Given the description of an element on the screen output the (x, y) to click on. 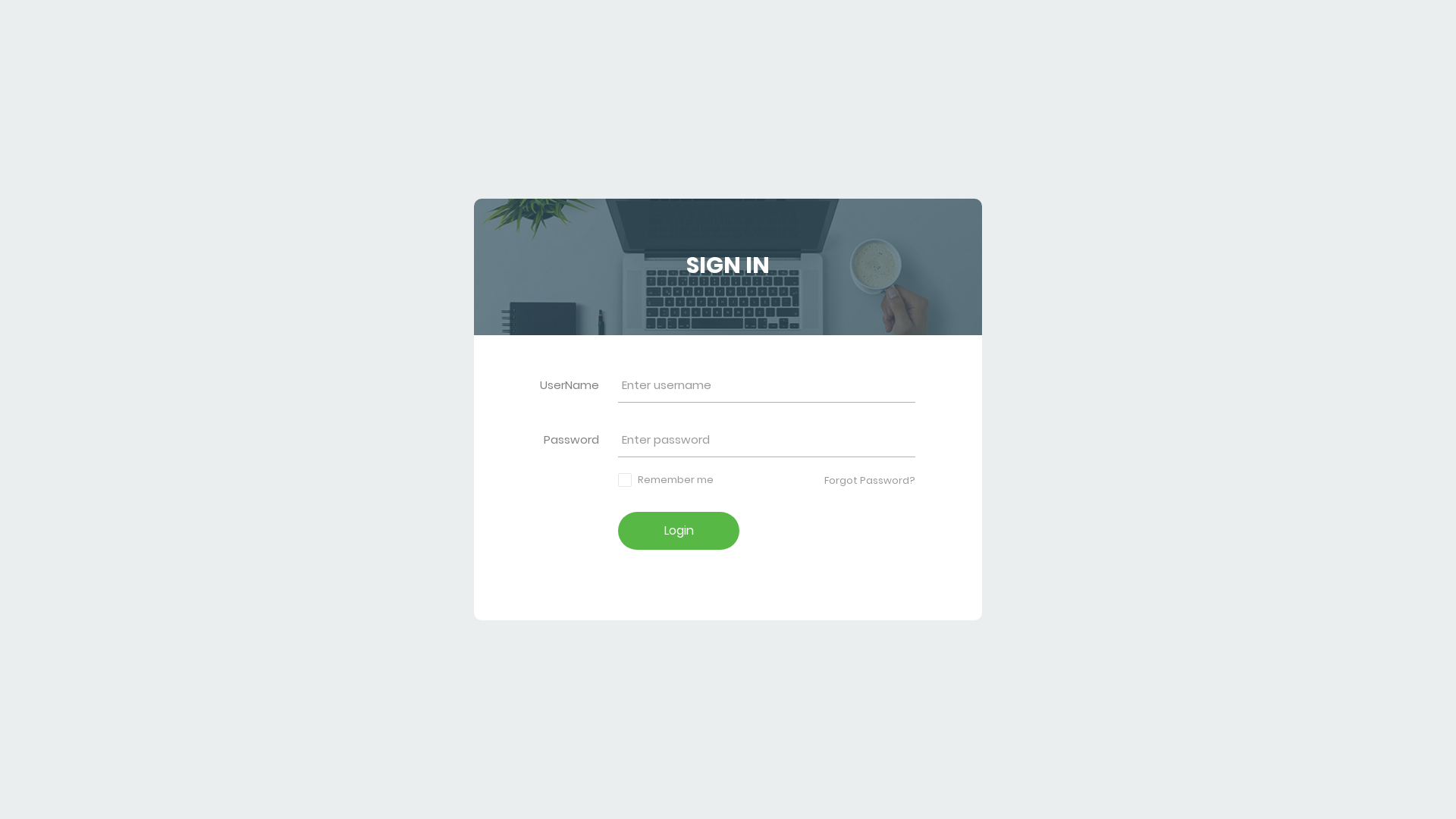
Forgot Password? Element type: text (869, 480)
Login Element type: text (678, 530)
